Given the description of an element on the screen output the (x, y) to click on. 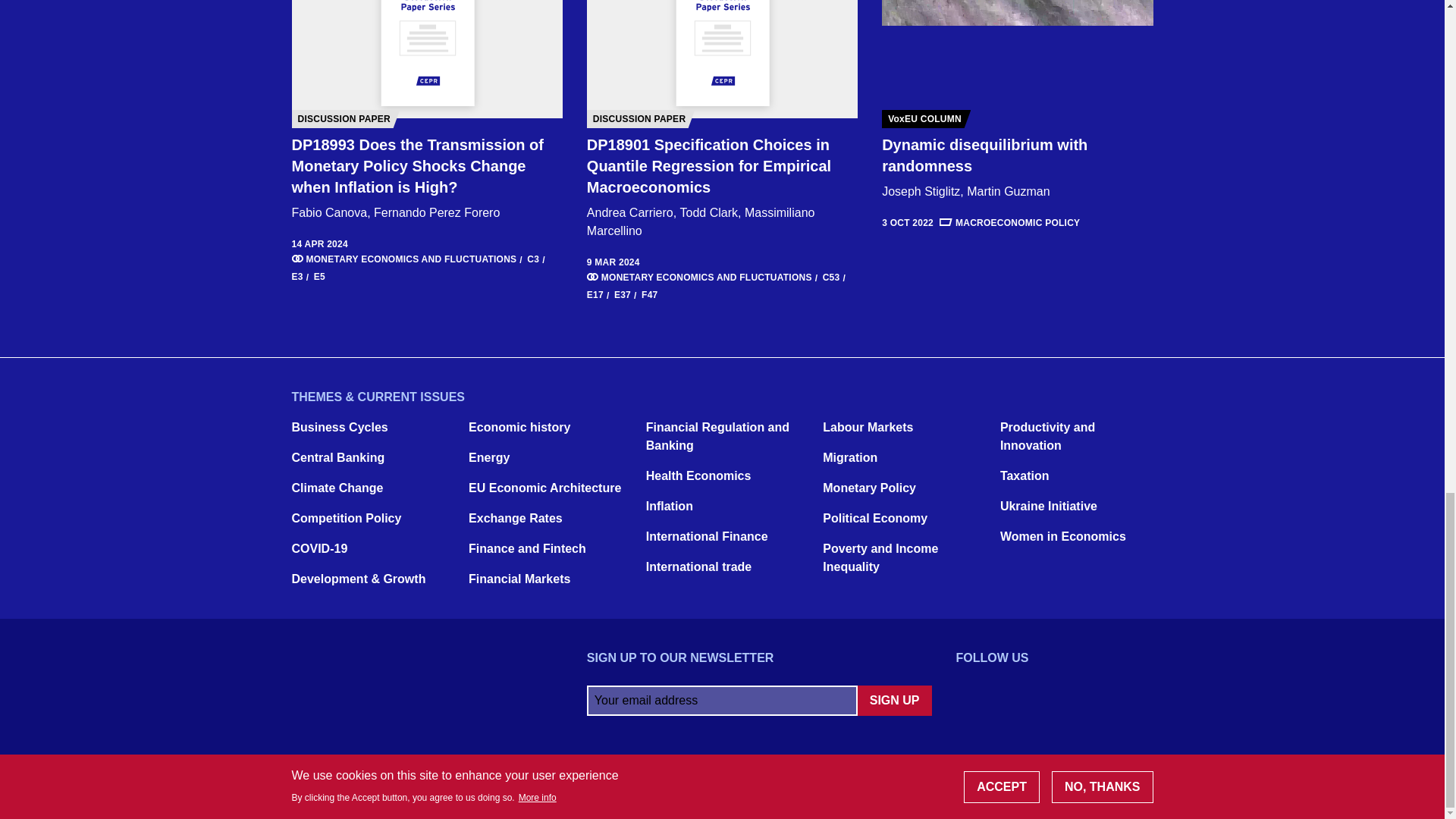
sign up (894, 700)
